Given the description of an element on the screen output the (x, y) to click on. 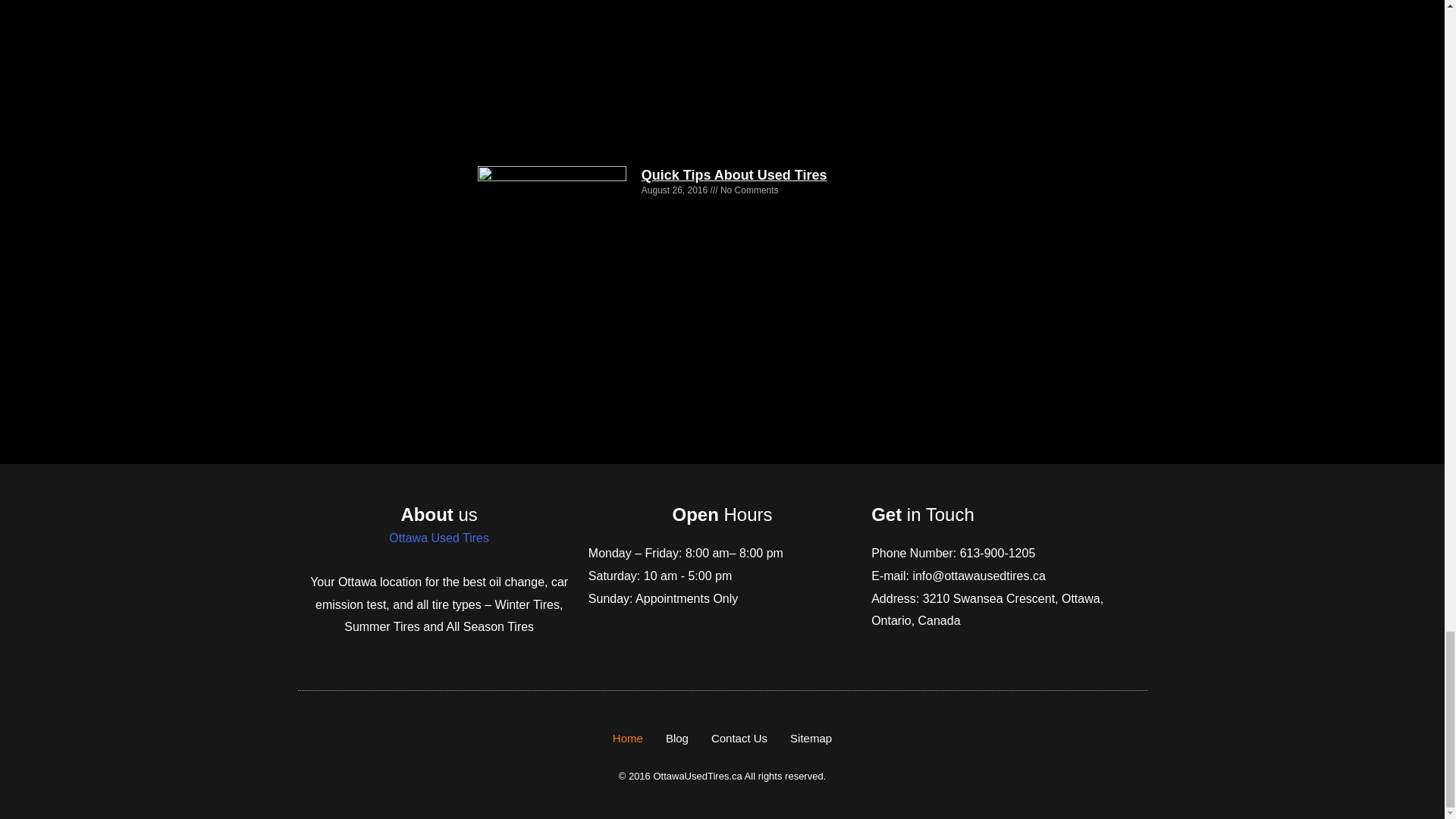
Contact Us (739, 738)
Blog (676, 738)
Quick Tips About Used Tires (734, 174)
Ottawa Used Tires (438, 537)
Sitemap (810, 738)
Home (627, 738)
